Given the description of an element on the screen output the (x, y) to click on. 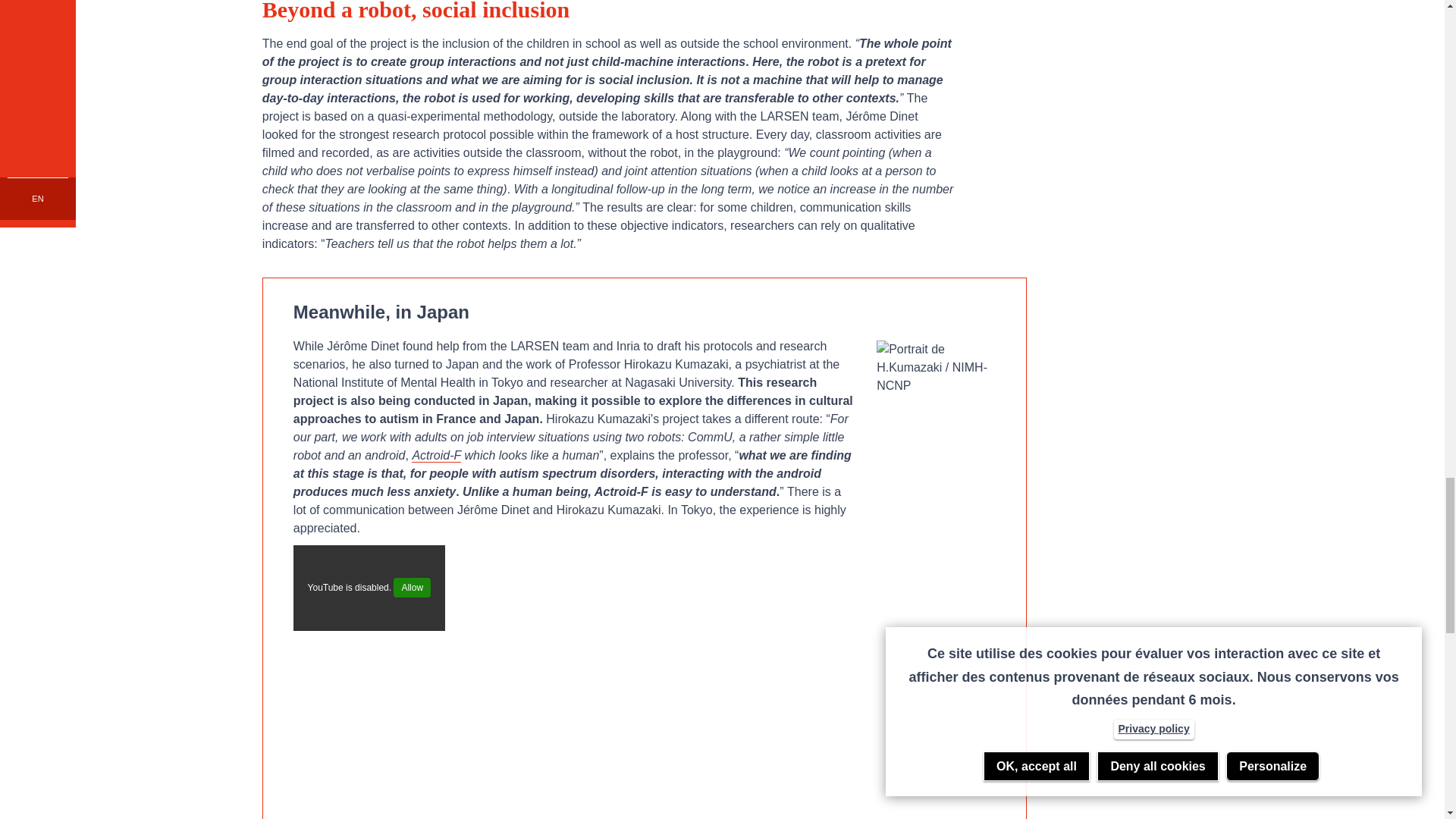
Actroid-F (436, 455)
Allow (411, 587)
